Given the description of an element on the screen output the (x, y) to click on. 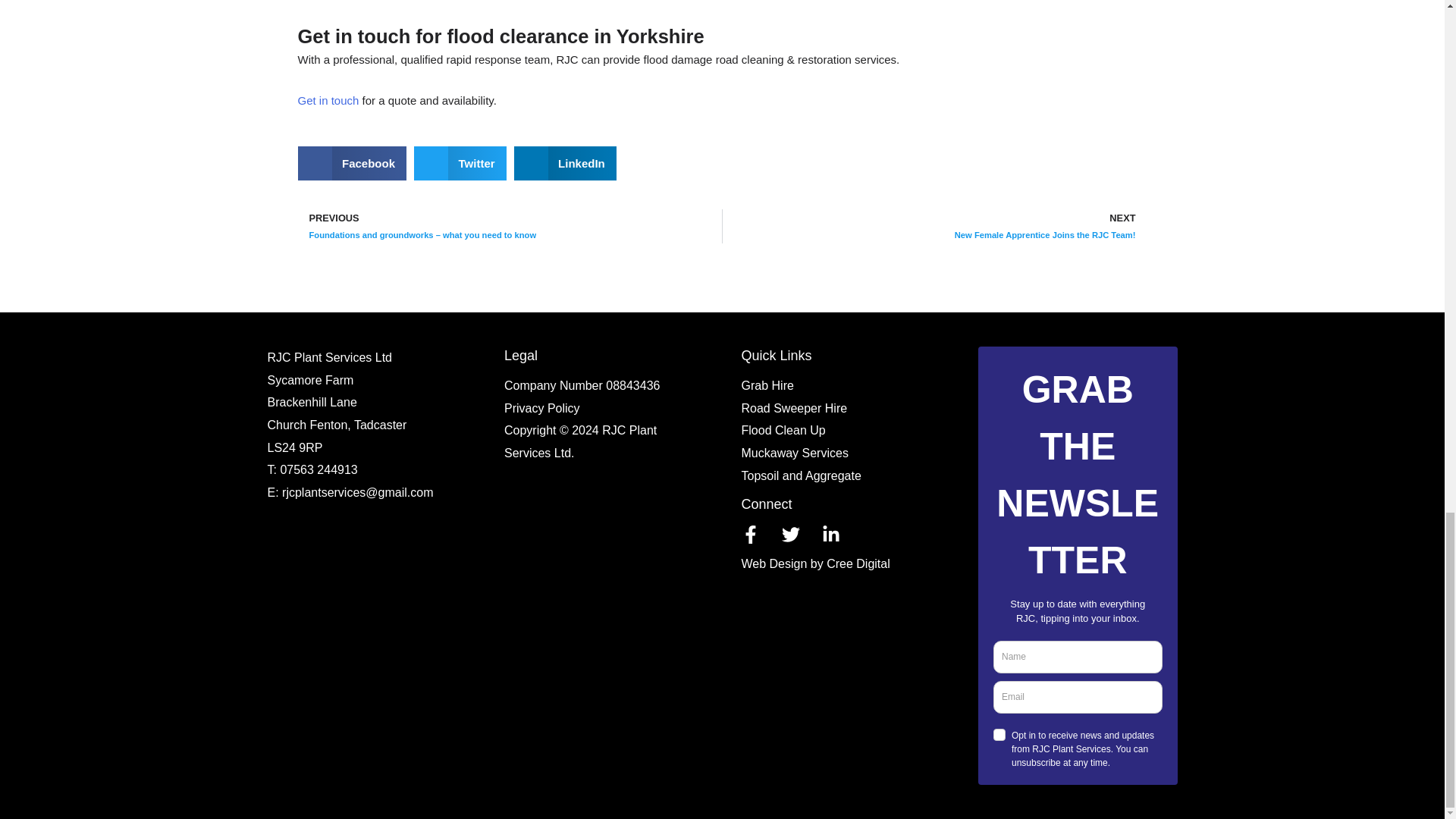
Get in touch (327, 100)
Grab Hire (767, 385)
Flood Clean Up (783, 430)
Road Sweeper Hire (794, 408)
Privacy Policy (934, 226)
07563 244913 (541, 408)
Muckaway Services (317, 469)
